Given the description of an element on the screen output the (x, y) to click on. 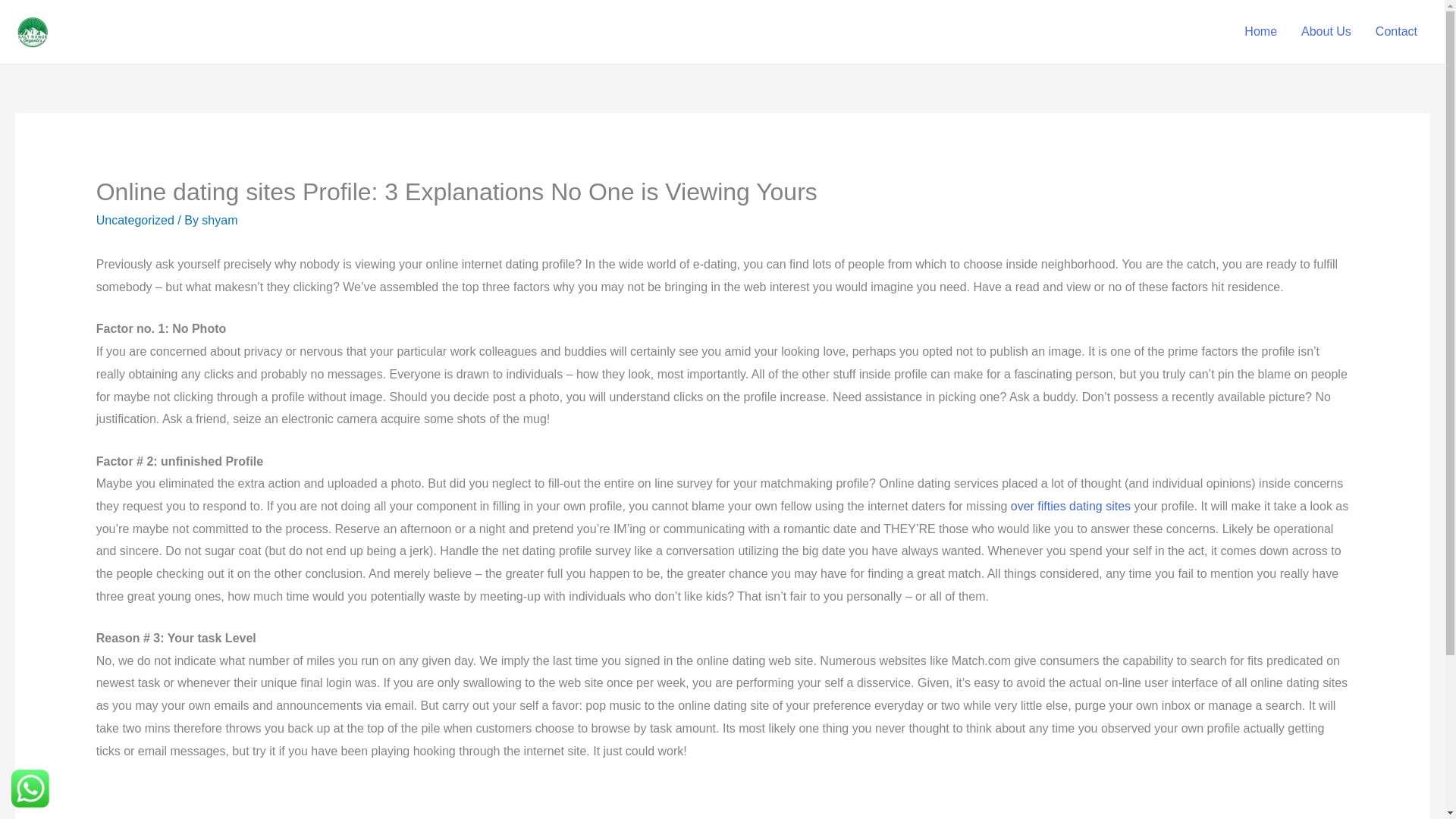
Uncategorized (135, 219)
Home (1259, 31)
About Us (1325, 31)
Contact (1395, 31)
shyam (219, 219)
View all posts by shyam (219, 219)
over fifties dating sites (1070, 505)
